Given the description of an element on the screen output the (x, y) to click on. 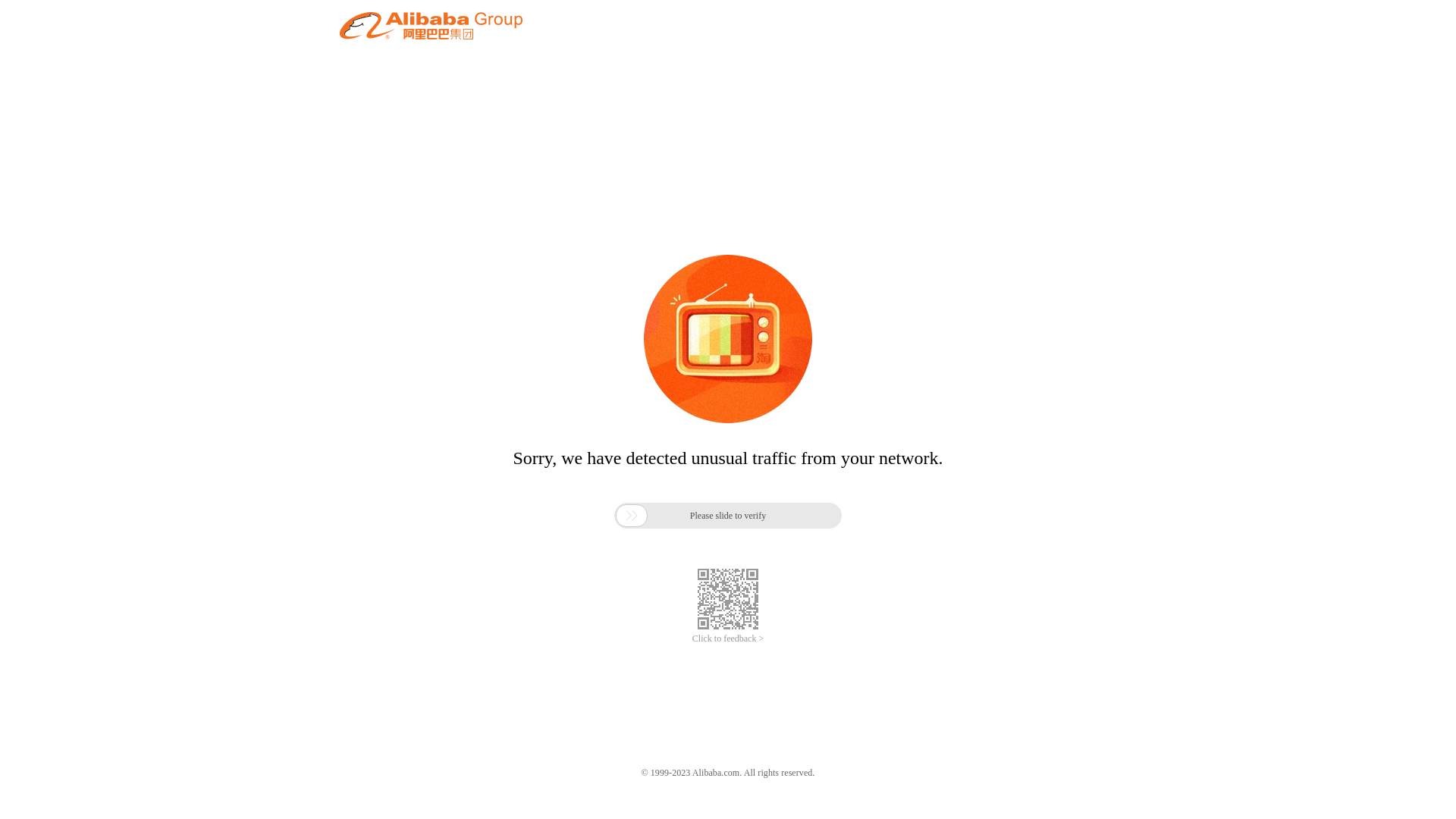
Click to feedback > Element type: text (727, 638)
